Given the description of an element on the screen output the (x, y) to click on. 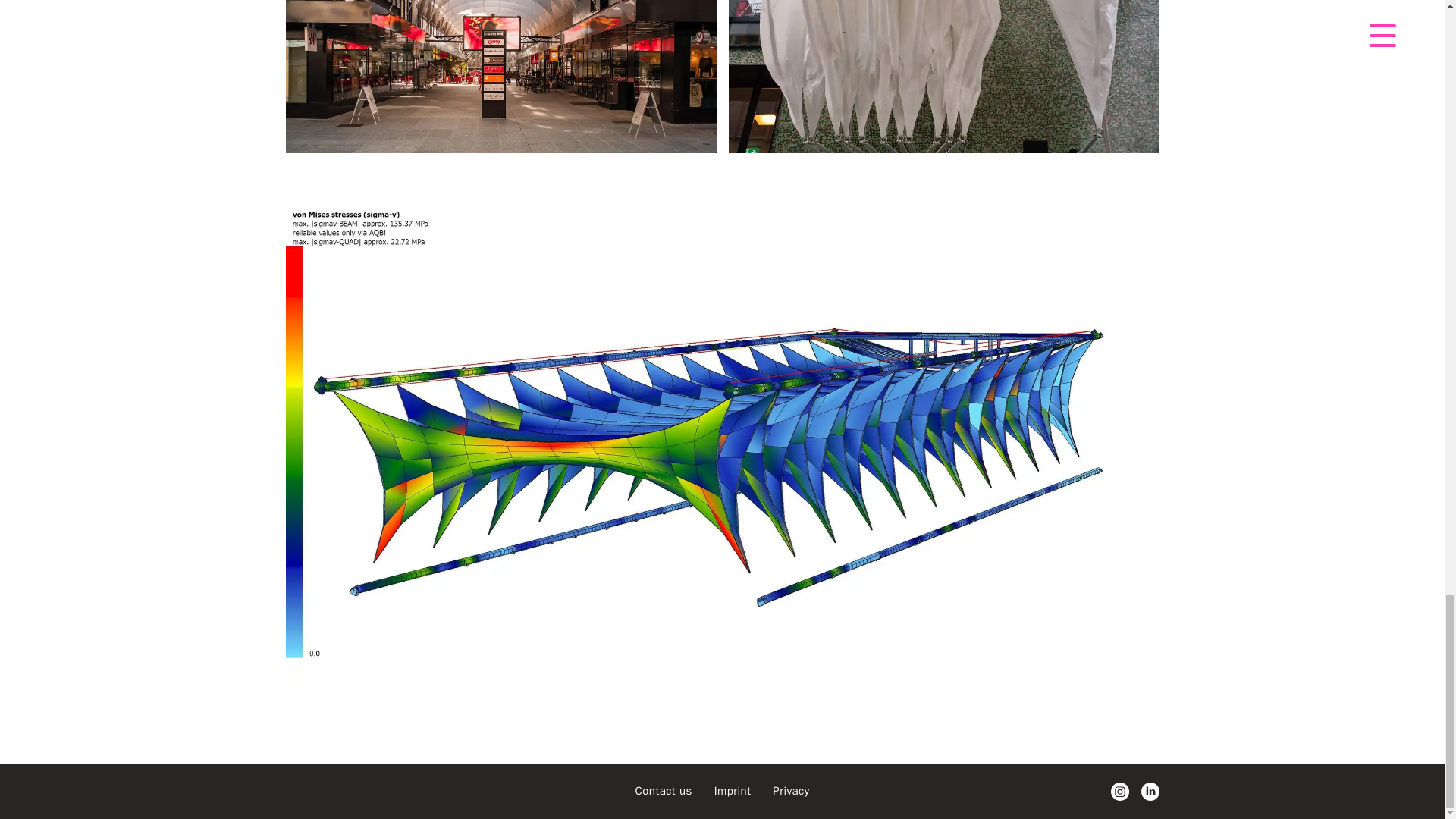
Contact us (664, 790)
Privacy (791, 790)
Imprint (734, 790)
